Given the description of an element on the screen output the (x, y) to click on. 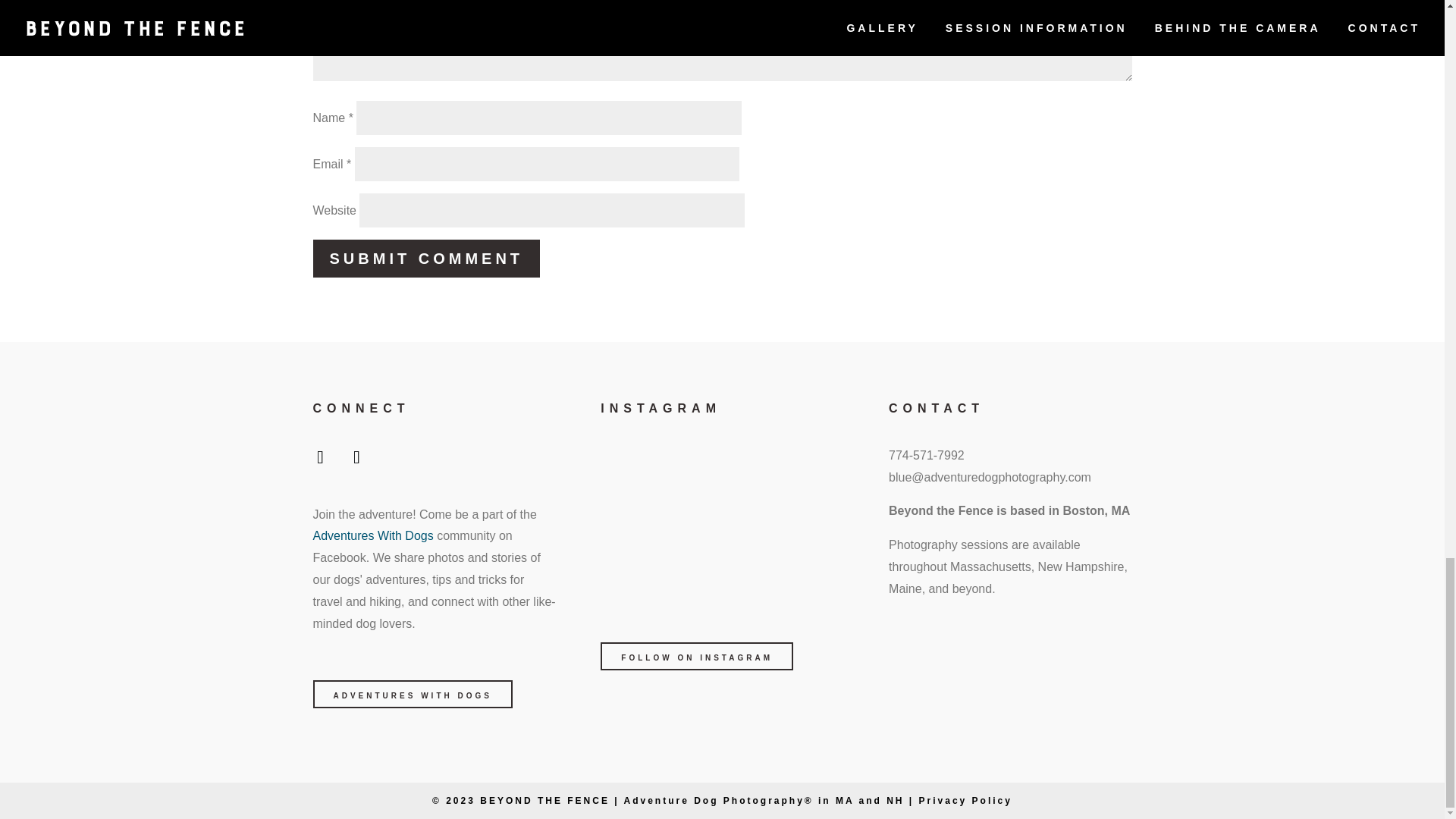
Follow on Instagram (355, 460)
Follow on Facebook (319, 460)
Submit Comment (426, 258)
Privacy Policy (964, 800)
ADVENTURES WITH DOGS (412, 694)
FOLLOW ON INSTAGRAM (696, 656)
Submit Comment (426, 258)
Adventures With Dogs (372, 535)
